Given the description of an element on the screen output the (x, y) to click on. 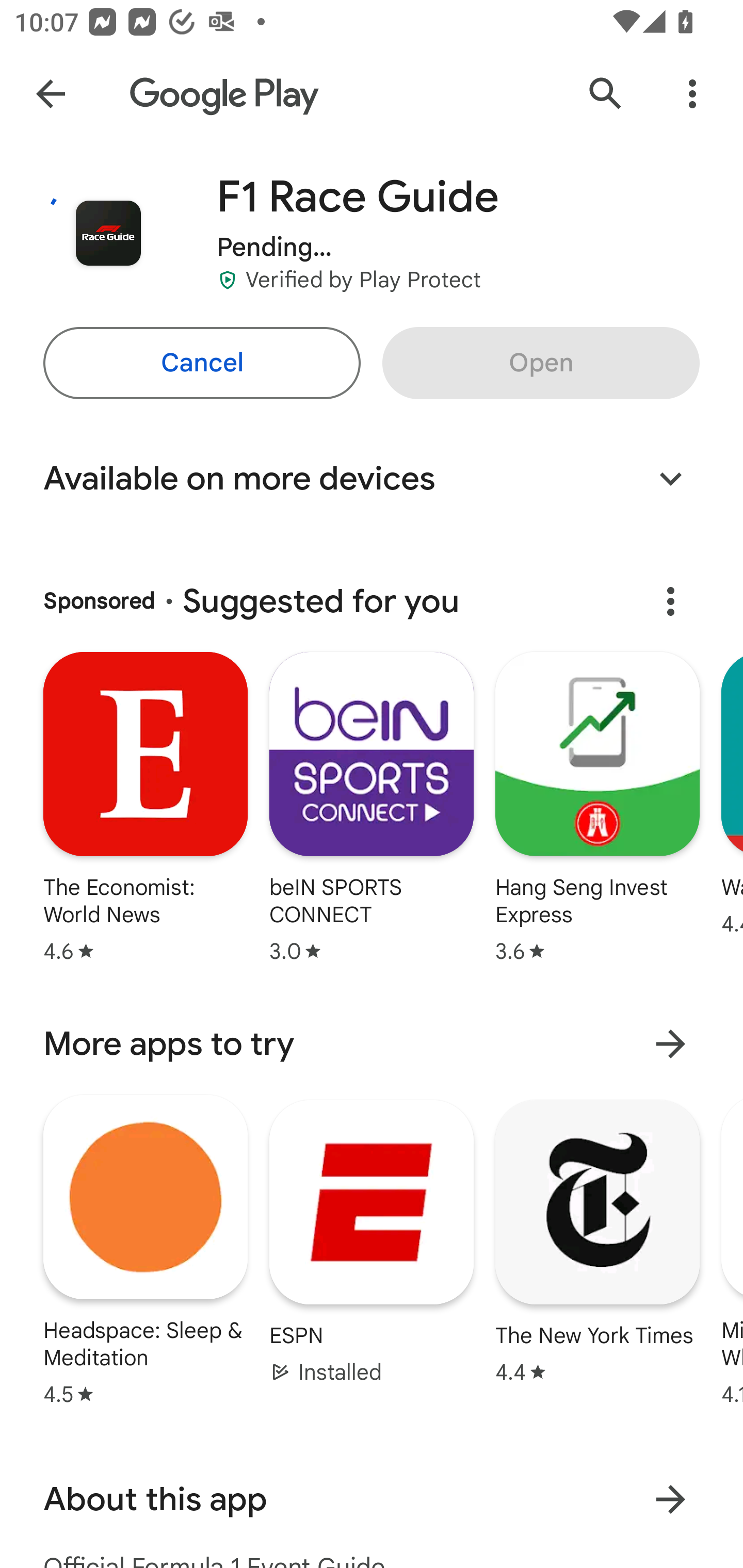
Navigate up (50, 93)
Search Google Play (605, 93)
More Options (692, 93)
Cancel (201, 362)
Open (540, 362)
Available on more devices Expand (371, 478)
Expand (670, 478)
About this ad (670, 601)
The Economist: World News
Star rating: 4.6
 (145, 809)
beIN SPORTS CONNECT
Star rating: 3.0
 (371, 809)
Hang Seng Invest Express
Star rating: 3.6
 (597, 809)
More apps to try More results for More apps to try (371, 1044)
More results for More apps to try (670, 1043)
Headspace: Sleep & Meditation
Star rating: 4.5
 (145, 1249)
ESPN
Installed
 (371, 1241)
The New York Times
Star rating: 4.4
 (597, 1241)
About this app Learn more About this app (371, 1498)
Learn more About this app (670, 1499)
